Given the description of an element on the screen output the (x, y) to click on. 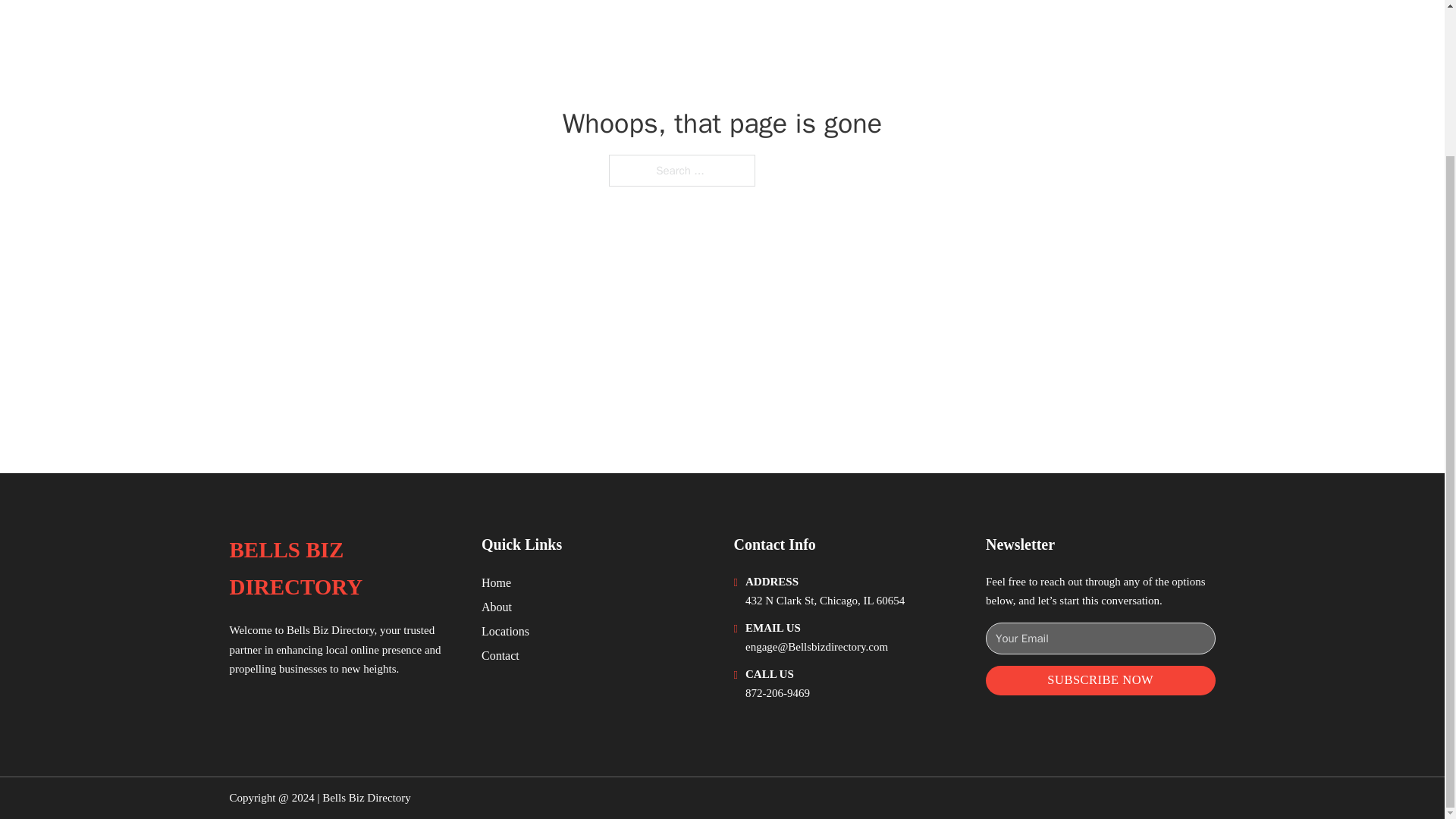
Home (496, 582)
Contact (500, 655)
SUBSCRIBE NOW (1100, 680)
Locations (505, 630)
872-206-9469 (777, 693)
BELLS BIZ DIRECTORY (343, 568)
About (496, 607)
